Given the description of an element on the screen output the (x, y) to click on. 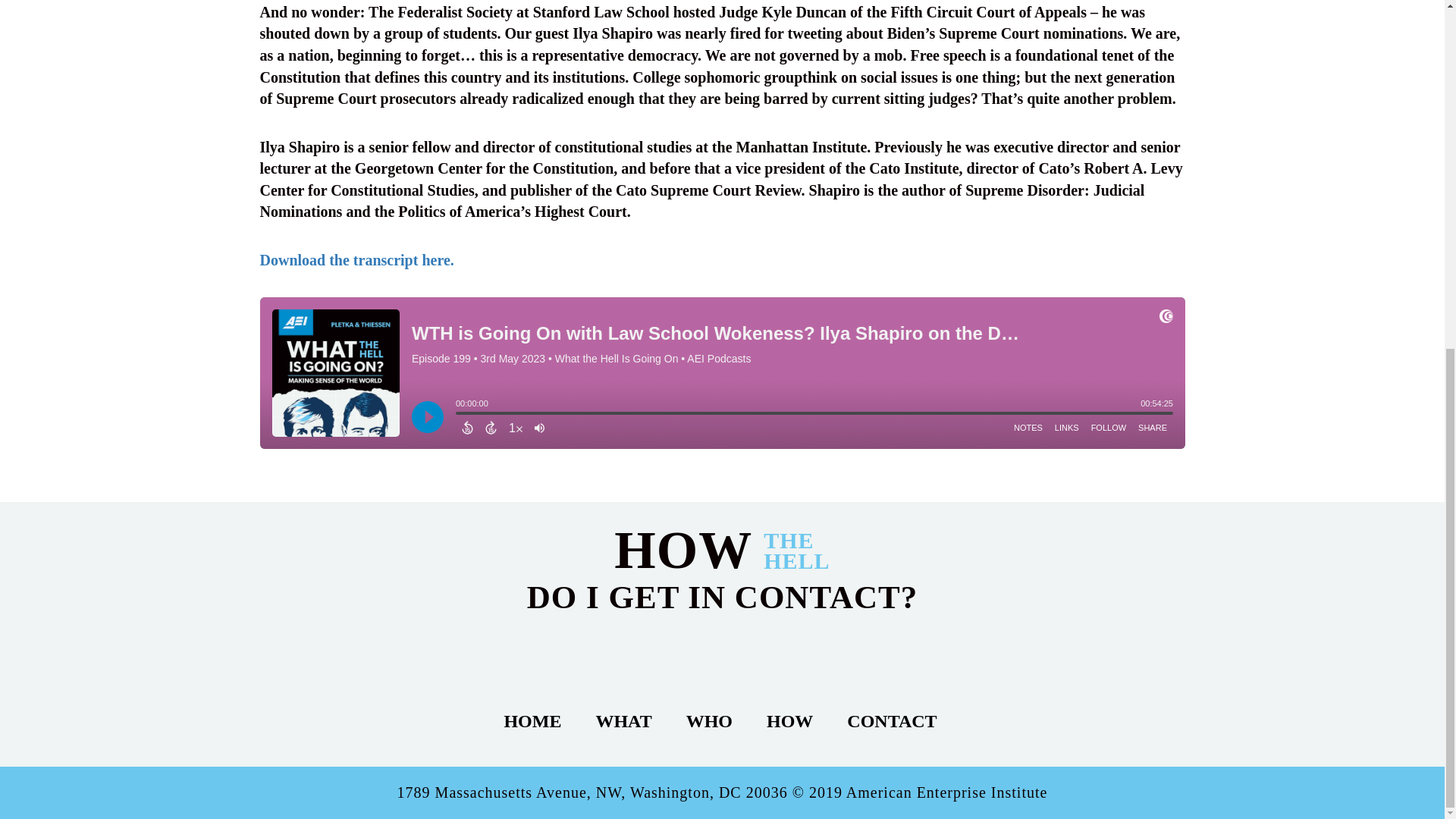
WHAT (622, 721)
CONTACT (891, 721)
HOW (789, 721)
WHO (709, 721)
HOME (532, 721)
Download the transcript here. (355, 259)
